Given the description of an element on the screen output the (x, y) to click on. 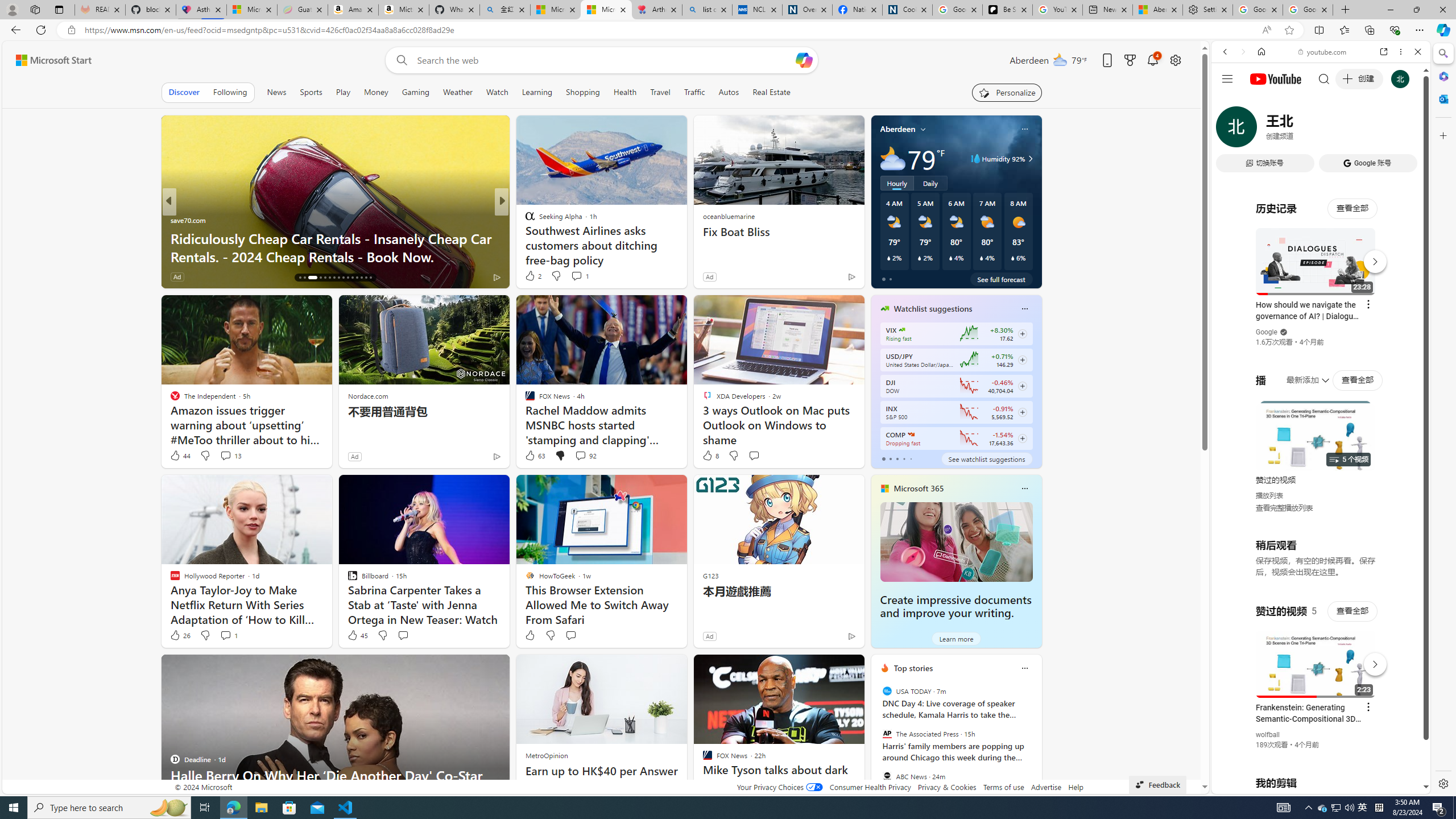
View comments 31 Comment (234, 276)
Inverse (524, 219)
71 Like (530, 276)
list of asthma inhalers uk - Search (706, 9)
View comments 3 Comment (576, 276)
Address and search bar (669, 29)
#you (1315, 659)
Web search (398, 60)
